Given the description of an element on the screen output the (x, y) to click on. 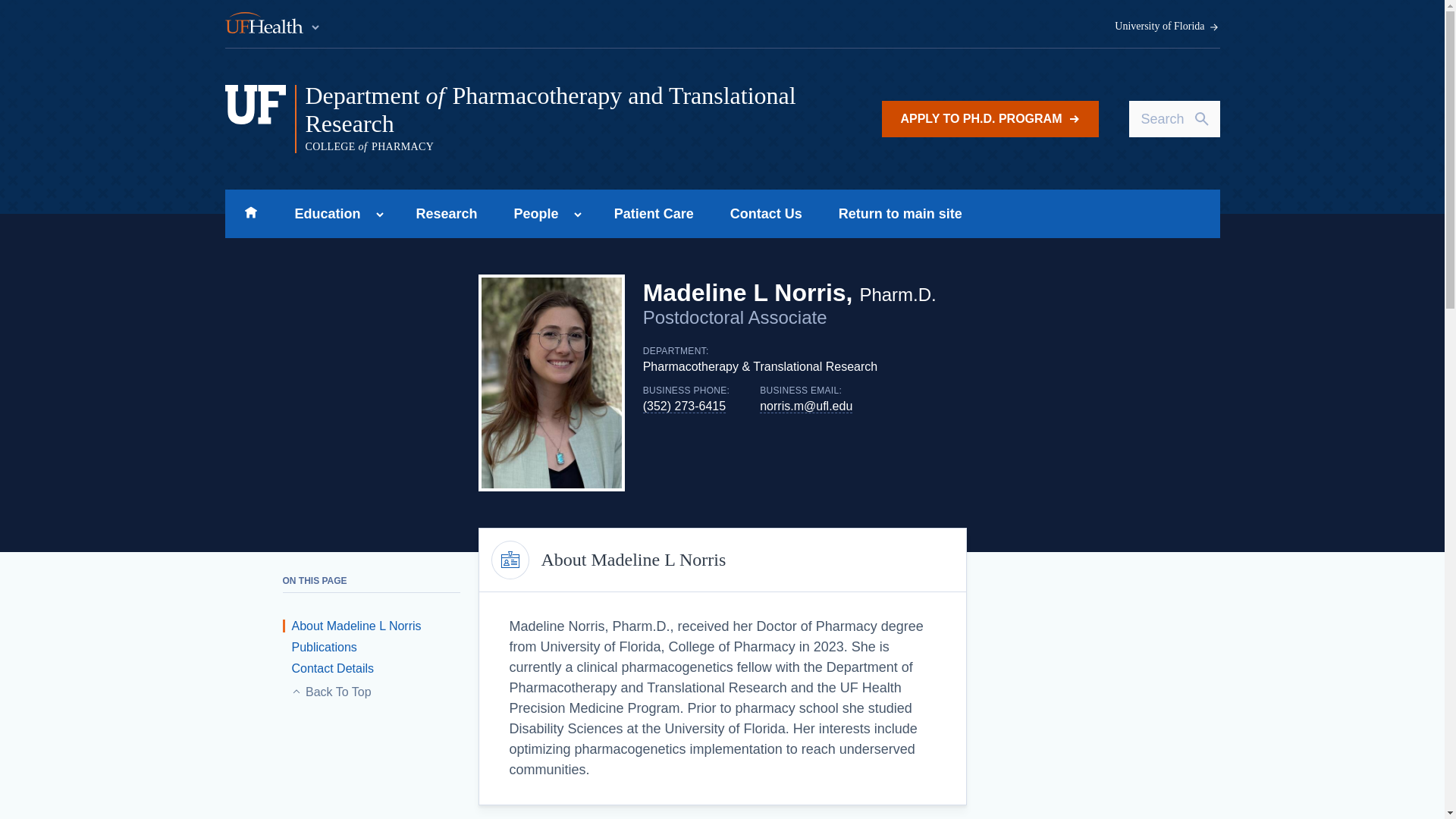
Return to main site (900, 213)
Research (446, 213)
APPLY TO PH.D. PROGRAM (989, 118)
Education (322, 213)
Contact Details (328, 667)
Back To Top (378, 691)
UF Health (272, 24)
Home (250, 213)
Publications (319, 646)
People (531, 213)
Patient Care (653, 213)
About Madeline L Norris (351, 625)
